Given the description of an element on the screen output the (x, y) to click on. 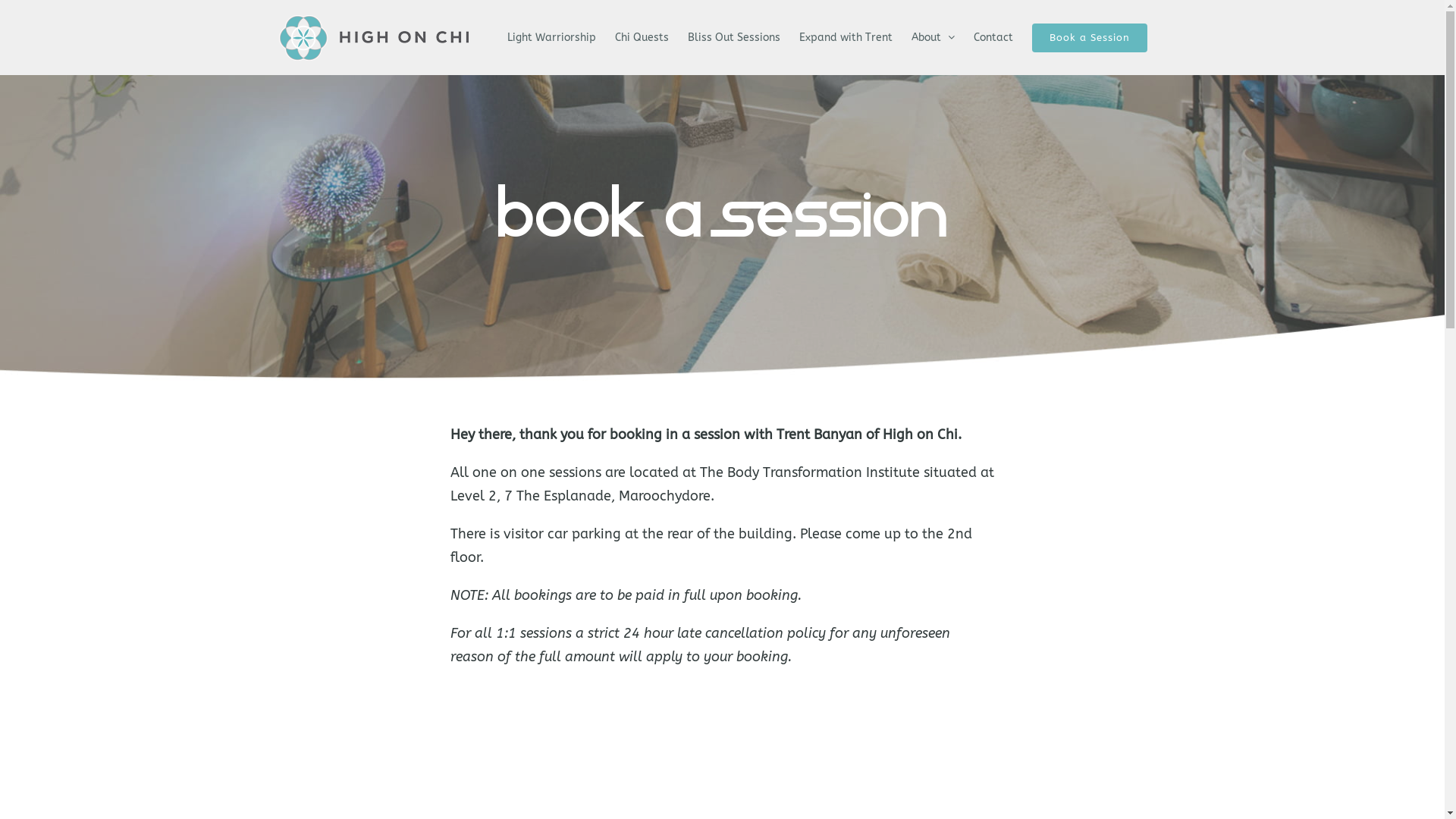
Chi Quests Element type: text (641, 37)
Expand with Trent Element type: text (845, 37)
Book a Session Element type: text (1088, 37)
About Element type: text (932, 37)
Bliss Out Sessions Element type: text (733, 37)
Light Warriorship Element type: text (550, 37)
Contact Element type: text (993, 37)
